Given the description of an element on the screen output the (x, y) to click on. 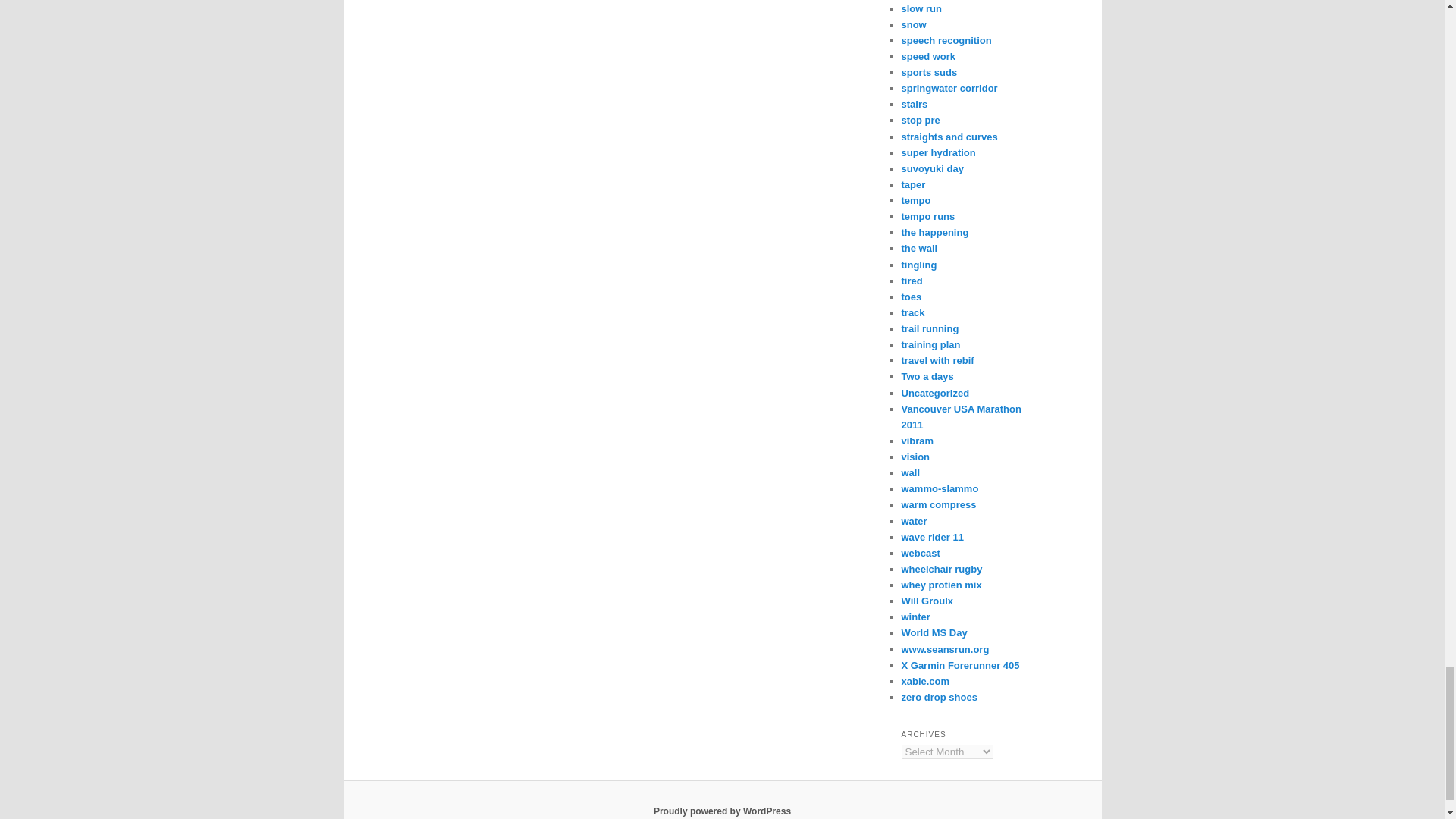
Semantic Personal Publishing Platform (721, 810)
